Given the description of an element on the screen output the (x, y) to click on. 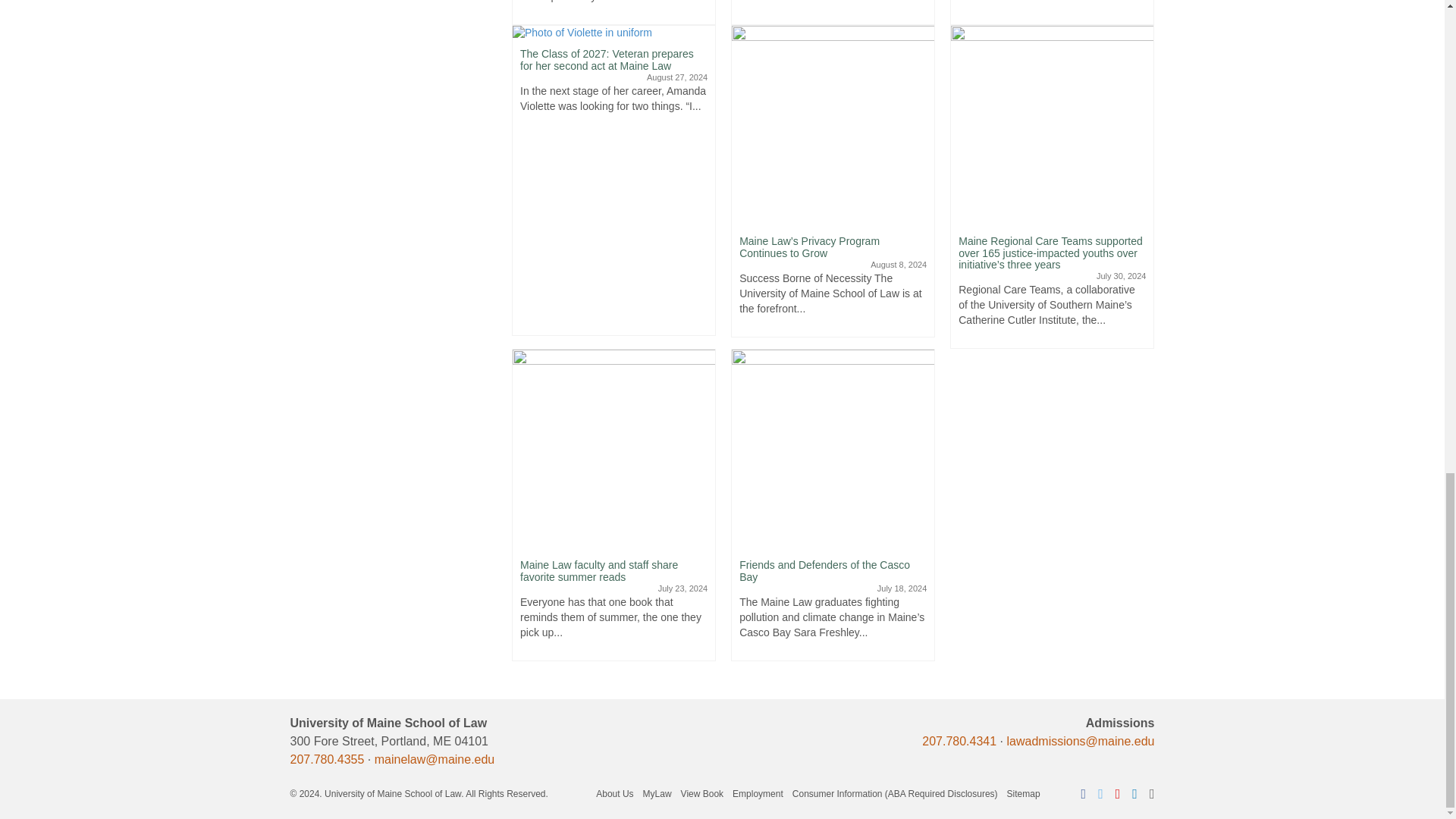
Maine Law faculty and staff share favorite summer reads (613, 449)
Friends and Defenders of the Casco Bay (833, 449)
